Given the description of an element on the screen output the (x, y) to click on. 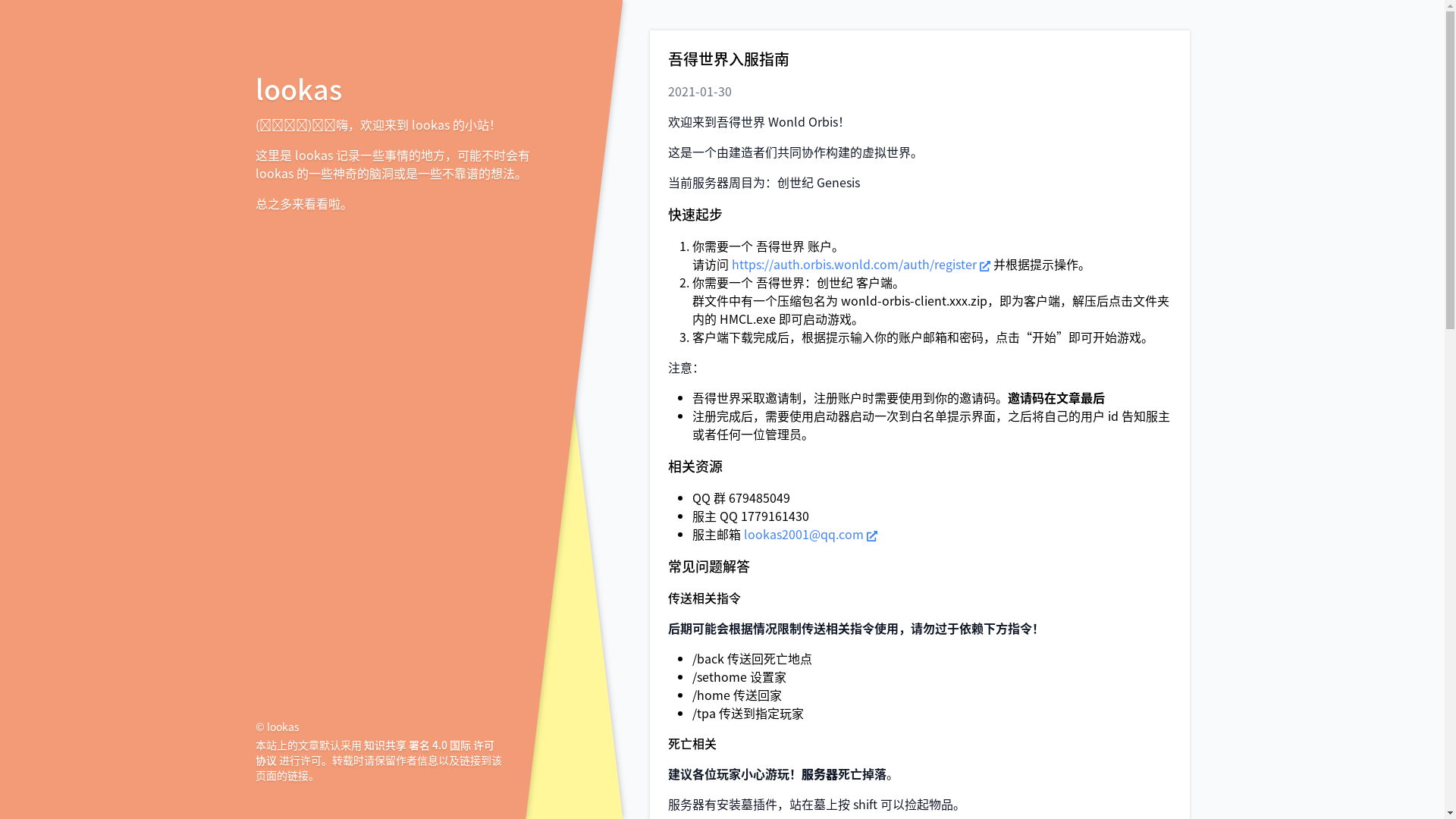
lookas2001@qq.com Element type: text (809, 533)
lookas Element type: text (297, 87)
https://auth.orbis.wonld.com/auth/register Element type: text (860, 263)
